Given the description of an element on the screen output the (x, y) to click on. 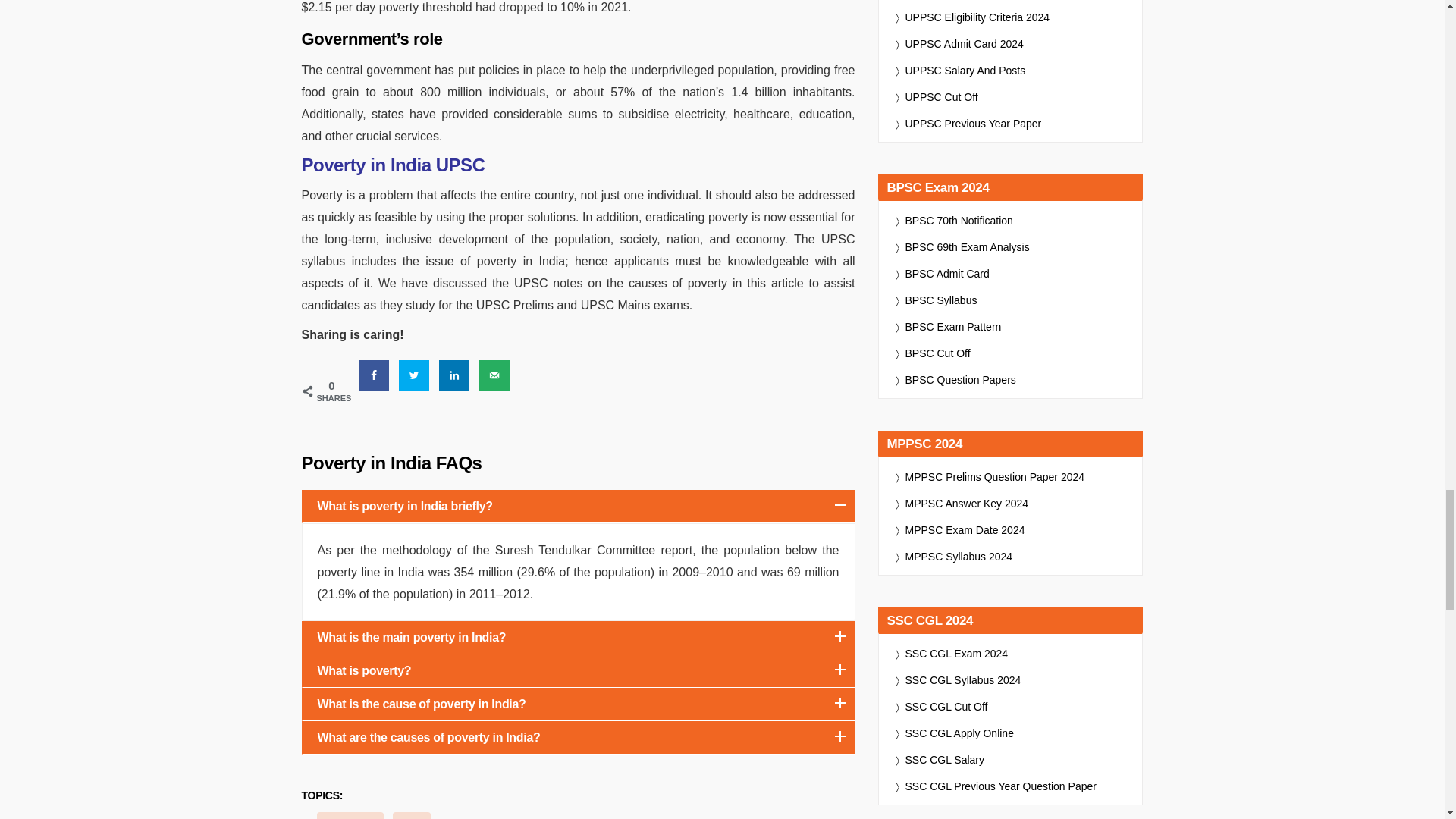
Share on LinkedIn (453, 375)
Share on Facebook (373, 375)
Share on Twitter (413, 375)
Send over email (494, 375)
